Given the description of an element on the screen output the (x, y) to click on. 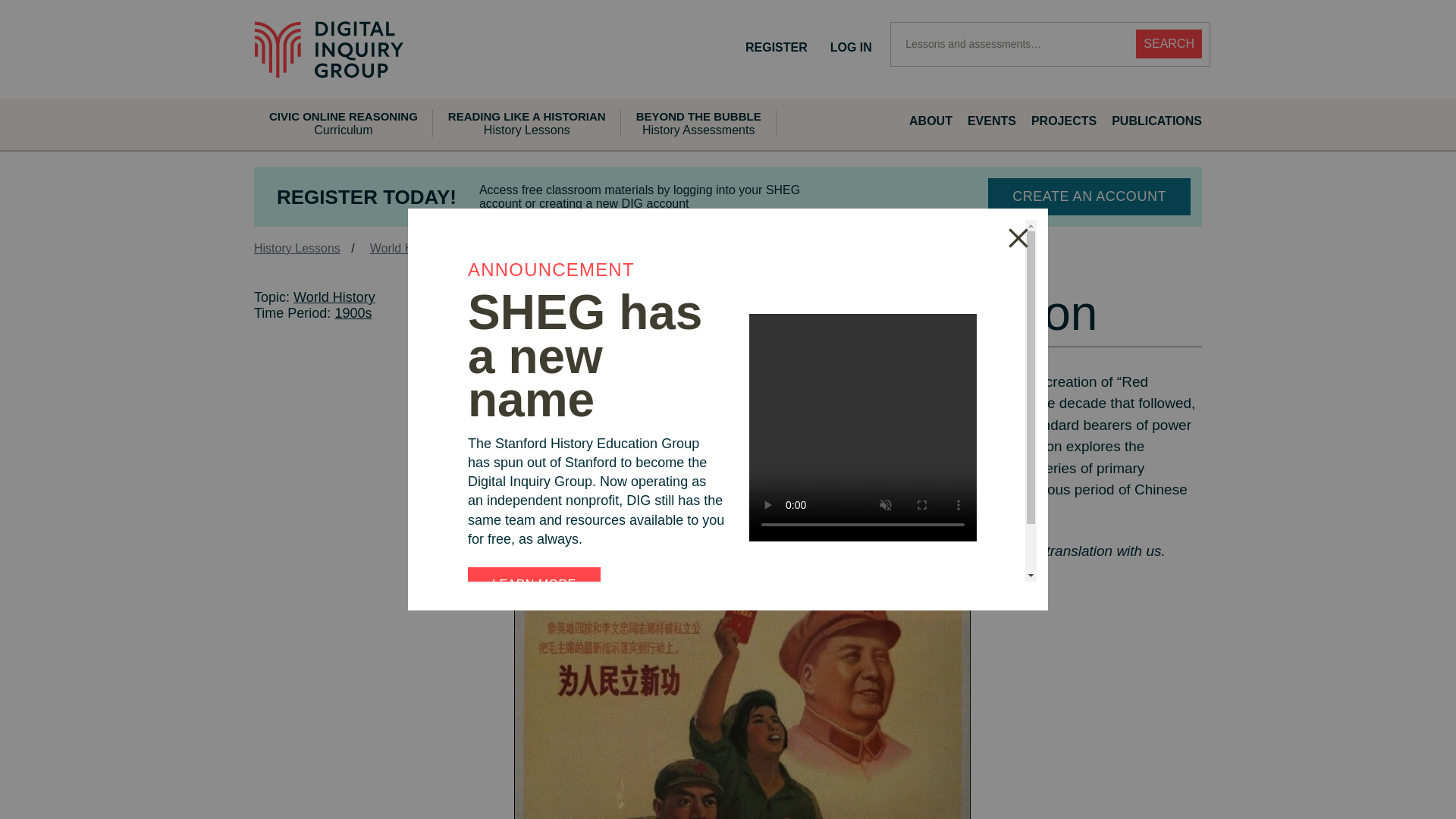
Search (1168, 43)
CREATE AN ACCOUNT (1089, 196)
Home (329, 49)
Search (1168, 43)
ABOUT (698, 123)
LOG IN (922, 120)
Digital Inquiry Group (850, 47)
Skip to main content (329, 49)
